Given the description of an element on the screen output the (x, y) to click on. 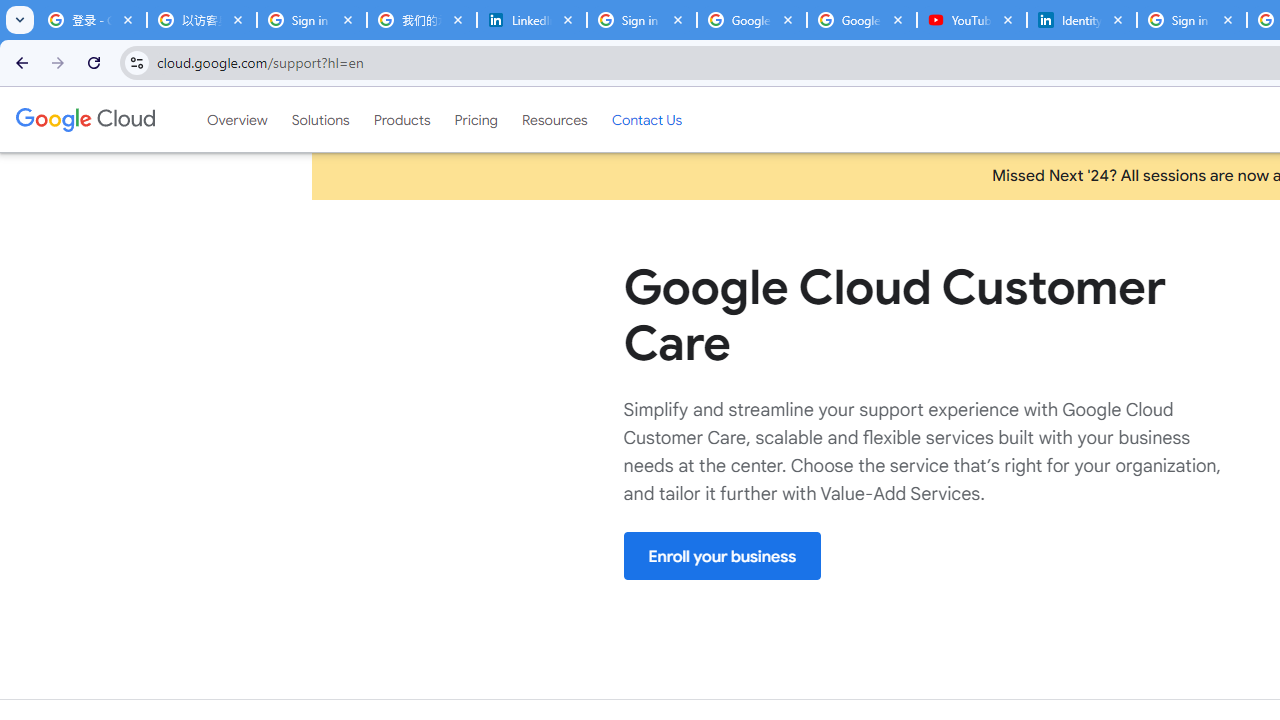
Resources (553, 119)
Google Cloud (84, 119)
Enroll your business (722, 556)
Contact Us (646, 119)
Solutions (320, 119)
